Given the description of an element on the screen output the (x, y) to click on. 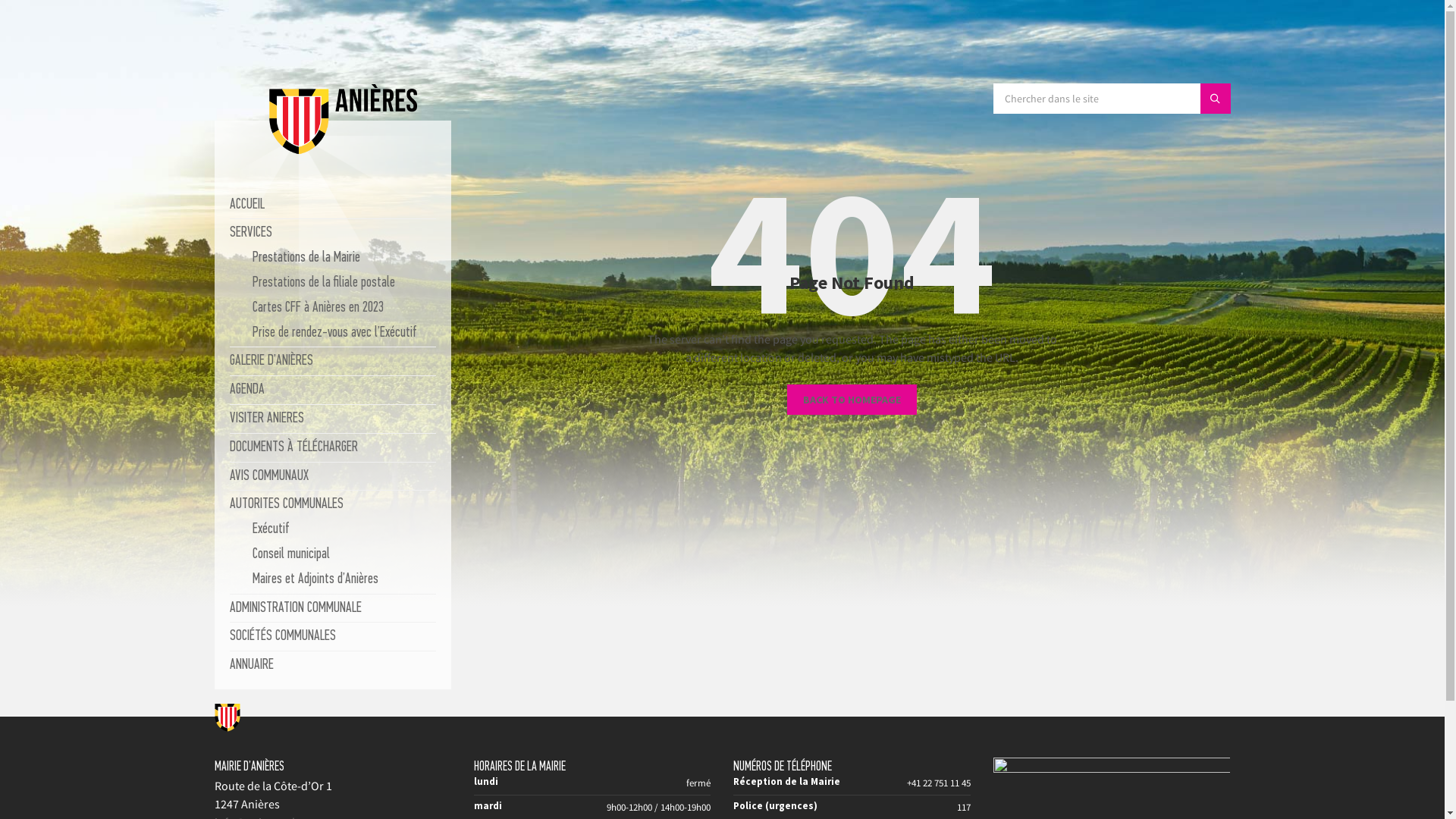
BACK TO HOMEPAGE Element type: text (851, 399)
AUTORITES COMMUNALES Element type: text (285, 504)
AVIS COMMUNAUX Element type: text (268, 476)
ACCUEIL Element type: text (246, 204)
Prestations de la filiale postale Element type: text (322, 283)
Submit search Element type: hover (1214, 98)
AGENDA Element type: text (246, 389)
VISITER ANIERES Element type: text (266, 418)
Prestations de la Mairie Element type: text (305, 258)
Conseil municipal Element type: text (290, 554)
ANNUAIRE Element type: text (251, 665)
ADMINISTRATION COMMUNALE Element type: text (294, 608)
SERVICES Element type: text (250, 232)
